Given the description of an element on the screen output the (x, y) to click on. 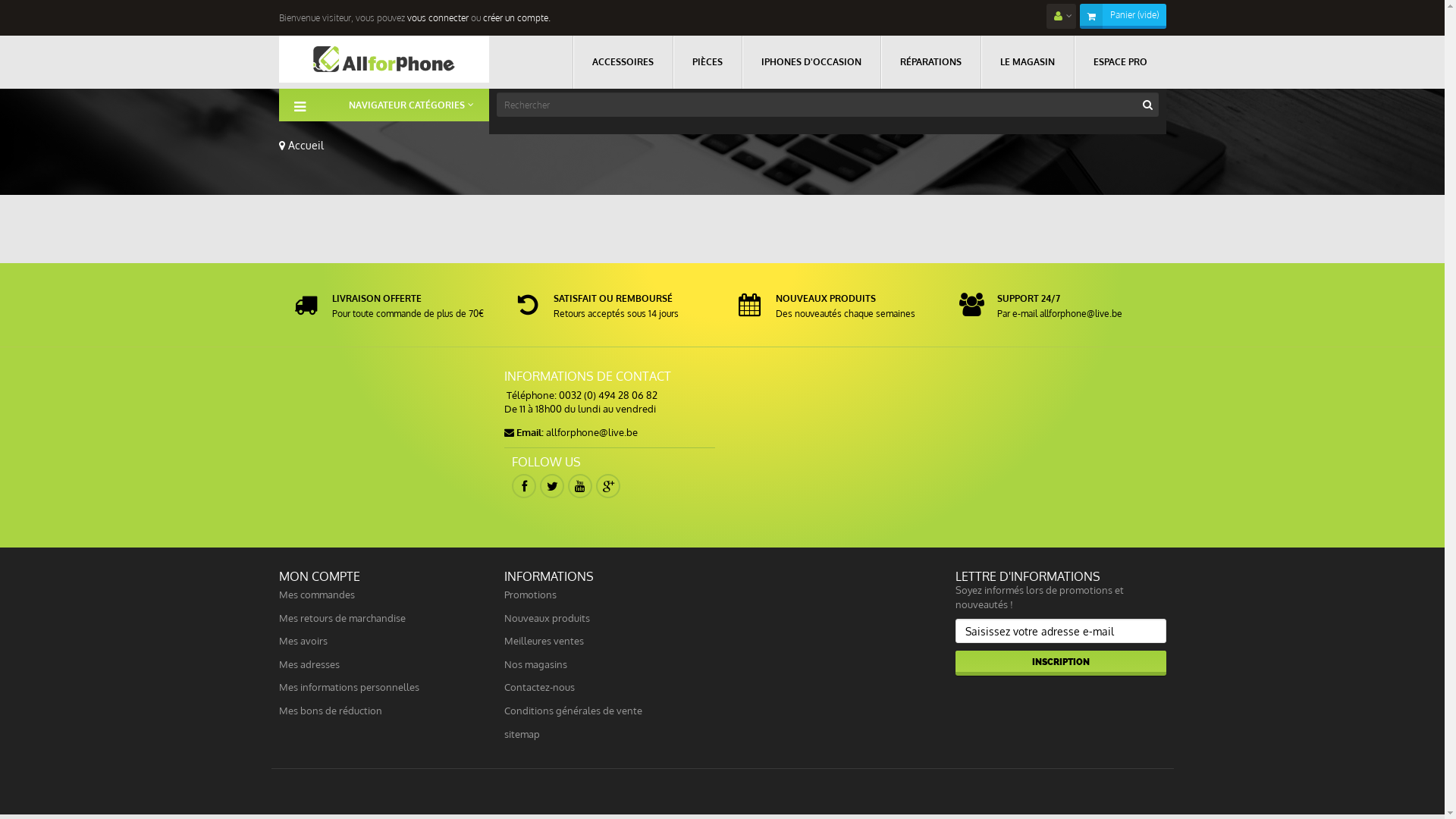
Contactez-nous Element type: text (539, 686)
ESPACE PRO Element type: text (1119, 61)
Inscription Element type: text (1060, 662)
Panier (vide) Element type: text (1134, 14)
Twitter Element type: text (551, 485)
Google Plus Element type: text (608, 485)
Nos magasins Element type: text (535, 664)
ACCESSOIRES Element type: text (621, 61)
Mes adresses Element type: text (309, 664)
sitemap Element type: text (521, 734)
Allforphone Element type: hover (384, 58)
Facebook Element type: text (523, 485)
Promotions Element type: text (530, 594)
Youtube Element type: text (579, 485)
Accueil Element type: text (301, 144)
Mes informations personnelles Element type: text (349, 686)
Mes retours de marchandise Element type: text (342, 617)
Mes commandes Element type: text (316, 594)
IPHONES D'OCCASION Element type: text (810, 61)
Nouveaux produits Element type: text (546, 617)
Meilleures ventes Element type: text (543, 640)
Mes avoirs Element type: text (303, 640)
vous connecter Element type: text (436, 17)
LE MAGASIN Element type: text (1026, 61)
